Given the description of an element on the screen output the (x, y) to click on. 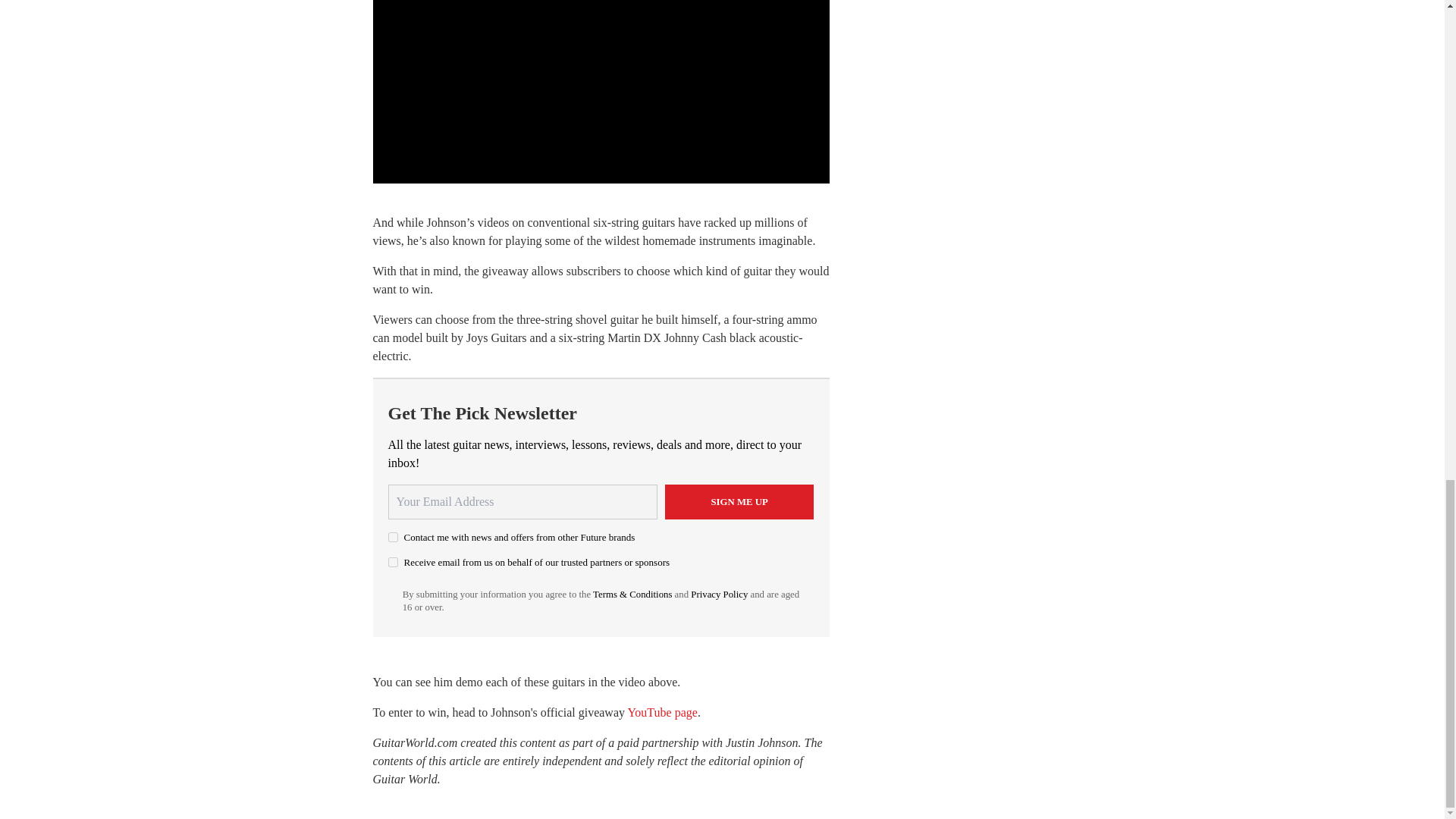
Sign me up (739, 501)
on (392, 562)
Privacy Policy (719, 593)
on (392, 537)
Sign me up (739, 501)
